Given the description of an element on the screen output the (x, y) to click on. 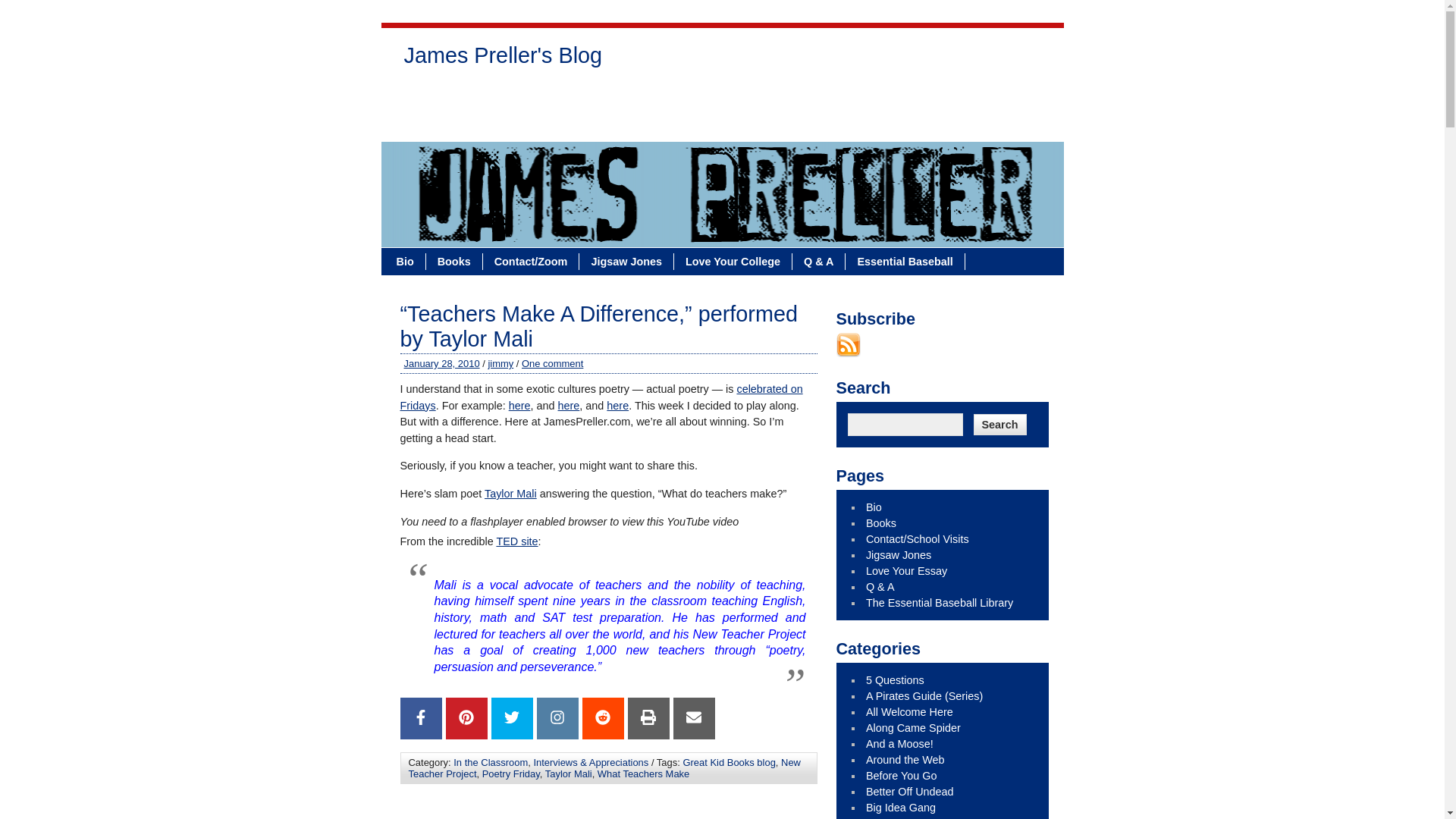
Poetry Friday (510, 773)
jimmy (500, 363)
Jigsaw Jones (680, 96)
Essential Baseball (904, 261)
Posts by jimmy (500, 363)
In the Classroom (489, 762)
Bio (405, 261)
James Preller's Blog (503, 59)
The Essential Baseball Library (491, 124)
New Teacher Project (603, 767)
My upcoming Young Adult Novel, Spring 2012 (901, 775)
celebrated on Fridays (601, 397)
January 28, 2010 (441, 363)
Bio (420, 96)
Search (1000, 424)
